Given the description of an element on the screen output the (x, y) to click on. 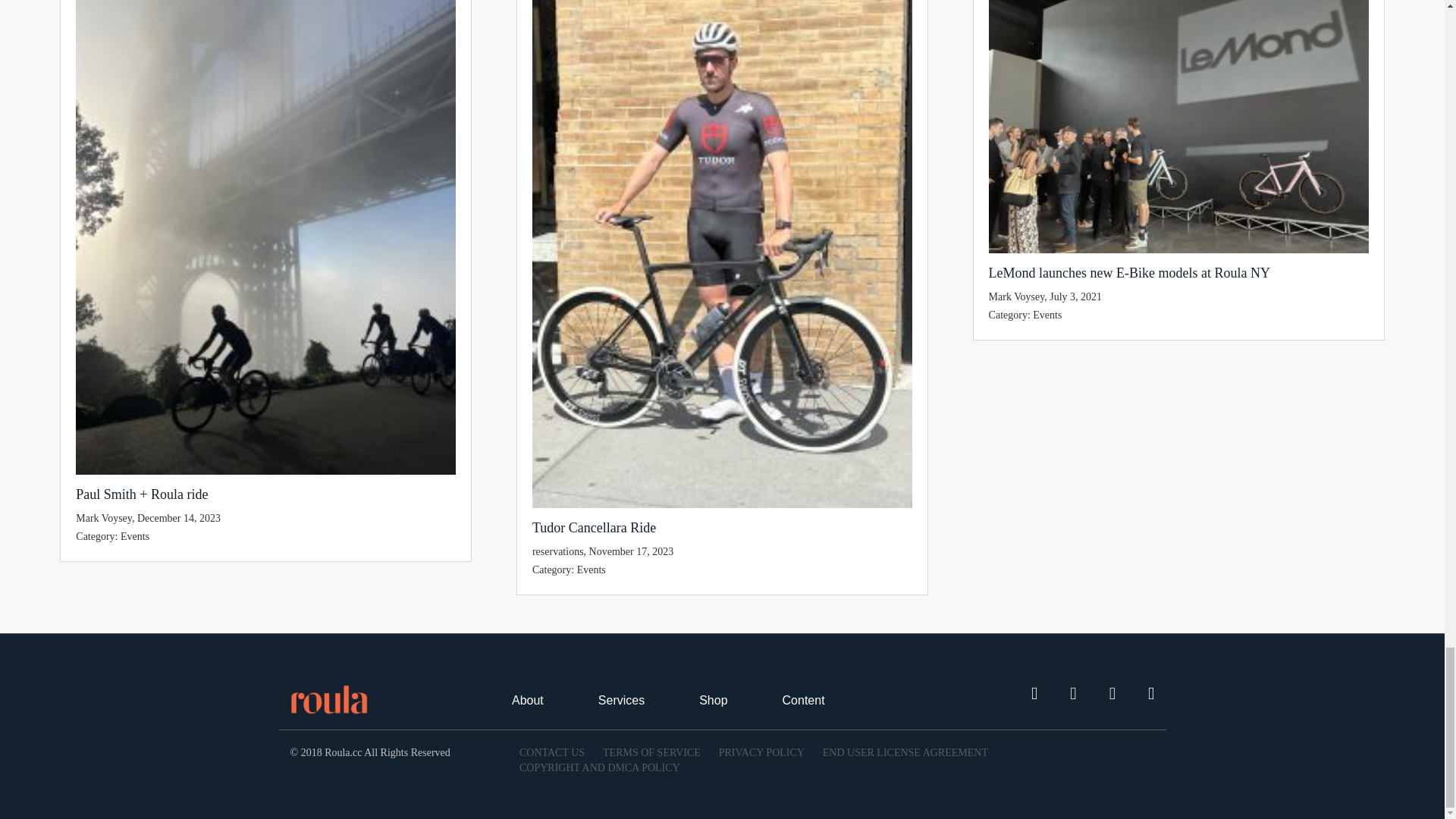
TERMS OF SERVICE (651, 752)
END USER LICENSE AGREEMENT (905, 752)
CONTACT US (552, 752)
Tudor Cancellara Ride (722, 527)
Content (804, 699)
About (527, 699)
Services (621, 699)
PRIVACY POLICY (762, 752)
COPYRIGHT AND DMCA POLICY (599, 767)
LeMond launches new E-Bike models at Roula NY (1178, 272)
